Given the description of an element on the screen output the (x, y) to click on. 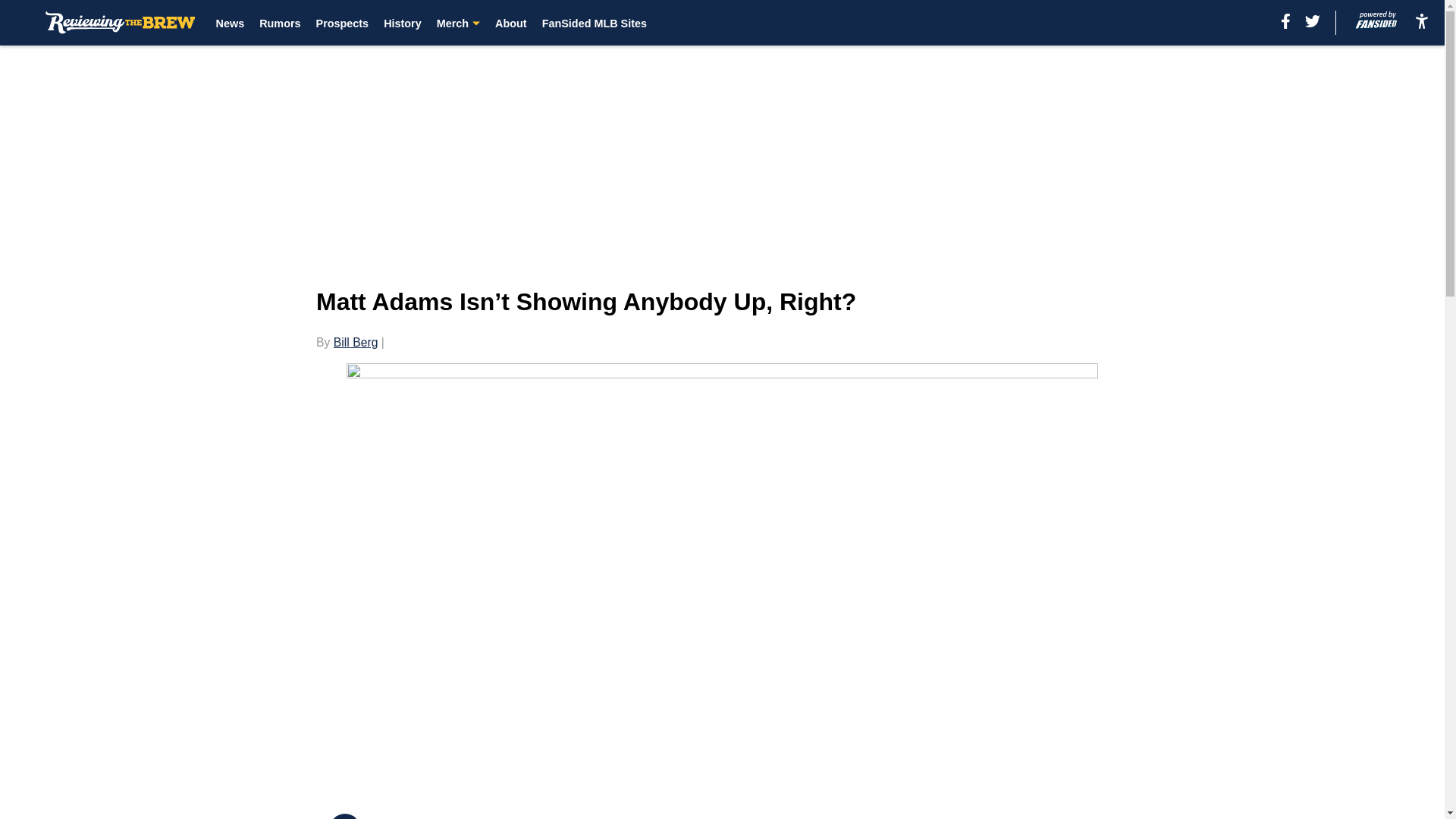
History (403, 23)
Prospects (342, 23)
FanSided MLB Sites (593, 23)
About (511, 23)
Rumors (279, 23)
News (229, 23)
Bill Berg (355, 341)
